Given the description of an element on the screen output the (x, y) to click on. 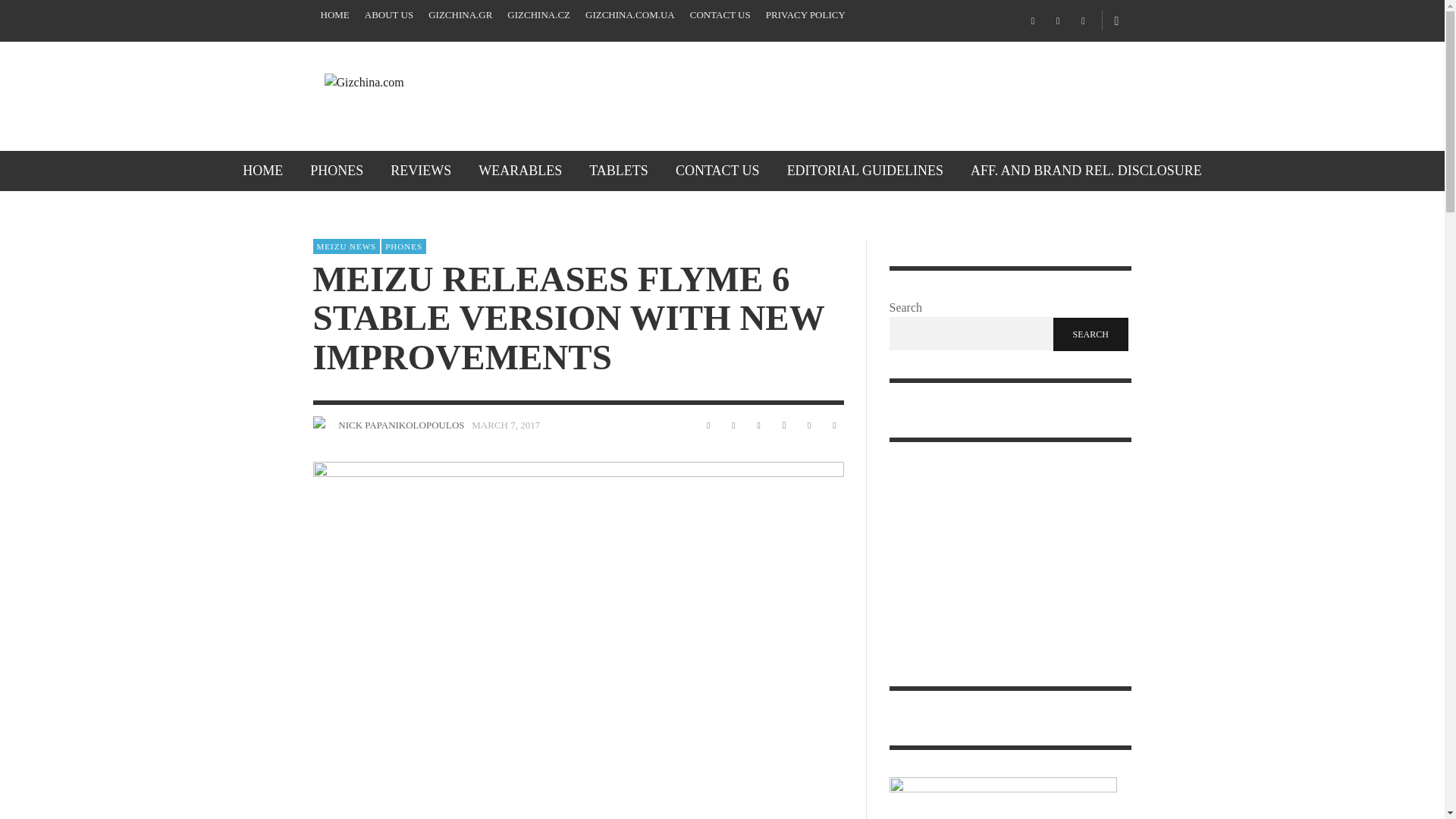
CONTACT US (720, 15)
GIZCHINA.GR (459, 15)
HOME (334, 15)
PRIVACY POLICY (805, 15)
GIZCHINA.CZ (538, 15)
ABOUT US (388, 15)
GIZCHINA.COM.UA (630, 15)
REVIEWS (420, 170)
HOME (262, 170)
PHONES (337, 170)
